Given the description of an element on the screen output the (x, y) to click on. 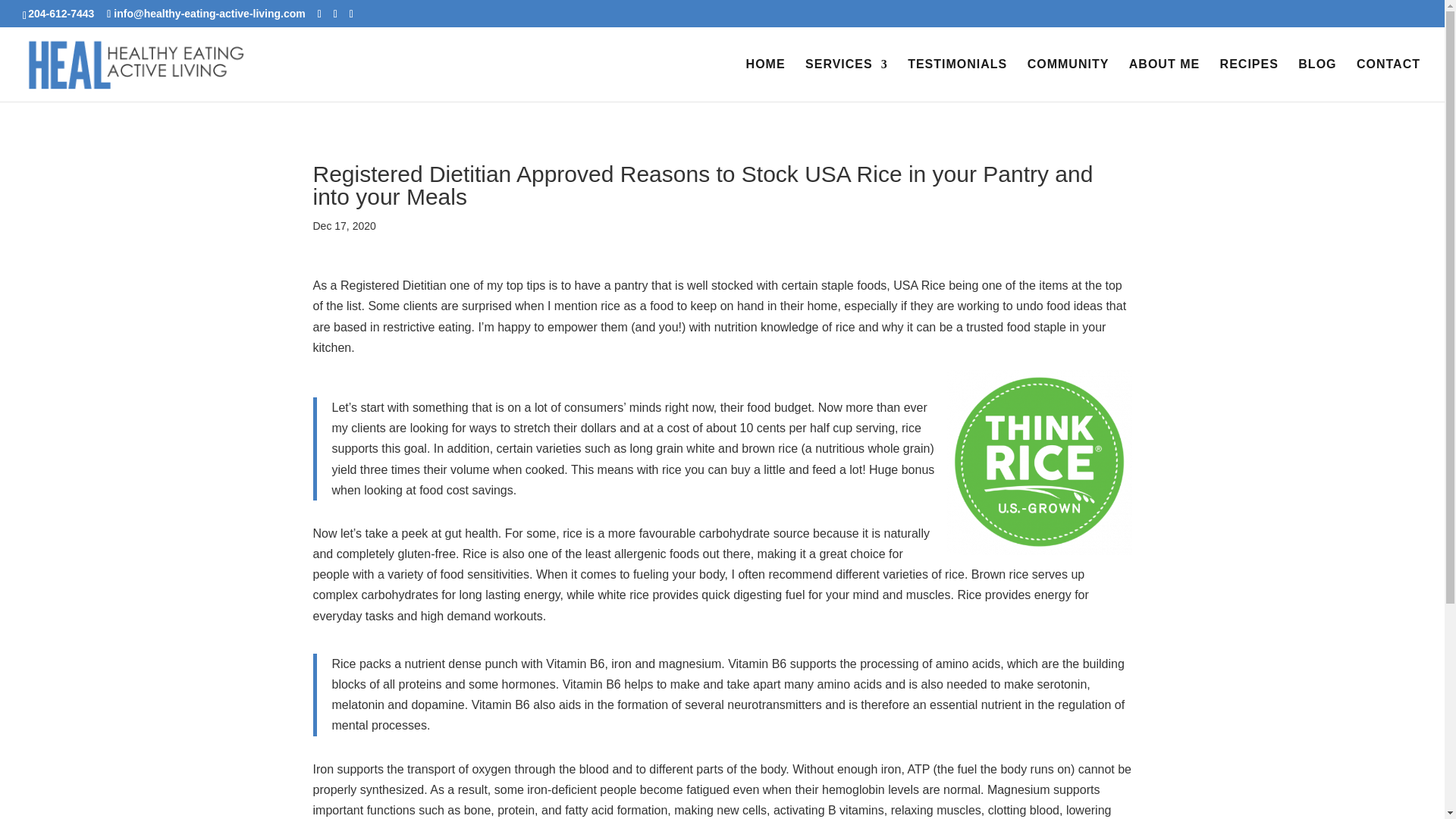
TESTIMONIALS (957, 79)
RECIPES (1249, 79)
BLOG (1317, 79)
204-612-7443 (63, 13)
SERVICES (846, 79)
HOME (765, 79)
ABOUT ME (1164, 79)
CONTACT (1388, 79)
COMMUNITY (1068, 79)
